Given the description of an element on the screen output the (x, y) to click on. 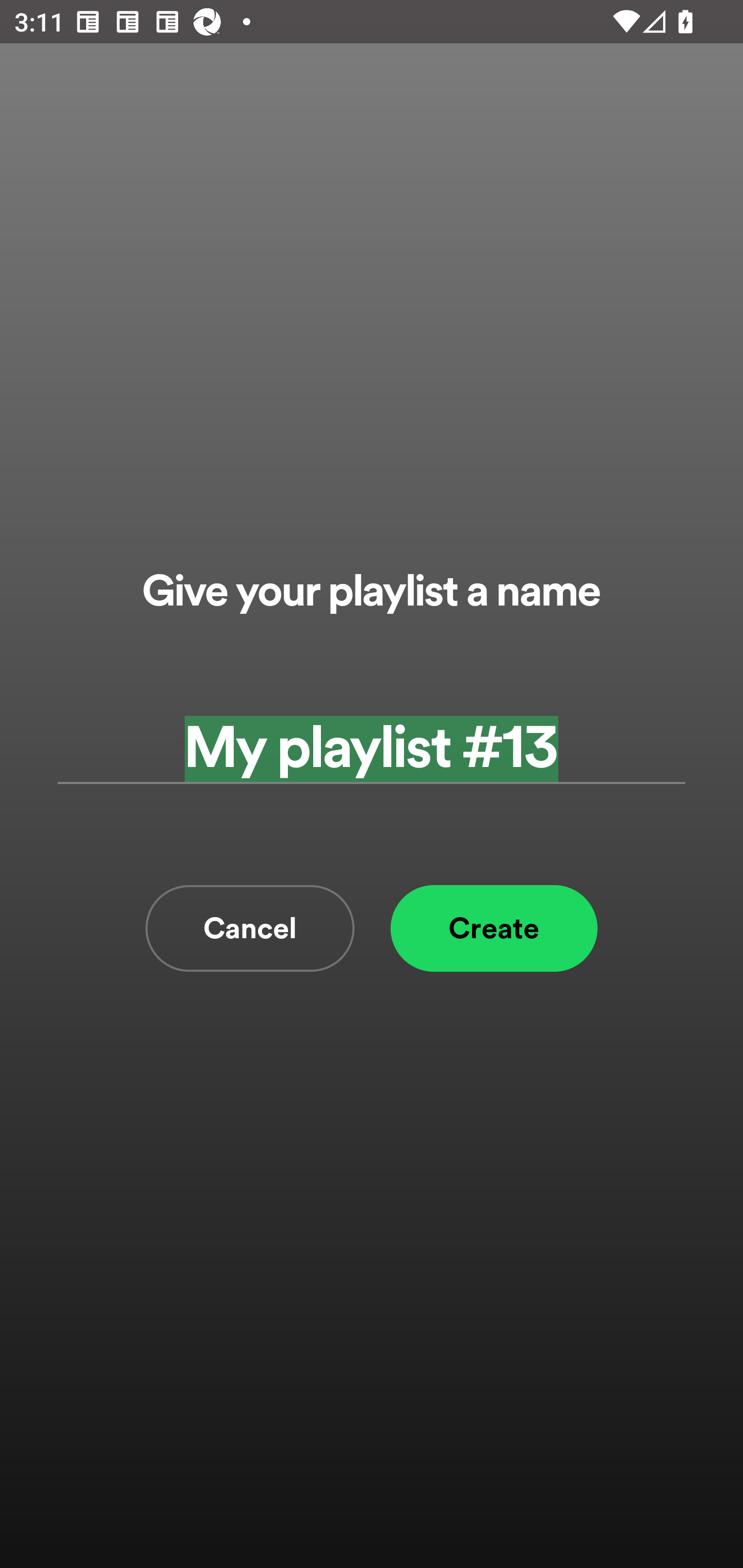
My playlist #13 Add a playlist name (371, 749)
Cancel (249, 928)
Create (493, 928)
